Given the description of an element on the screen output the (x, y) to click on. 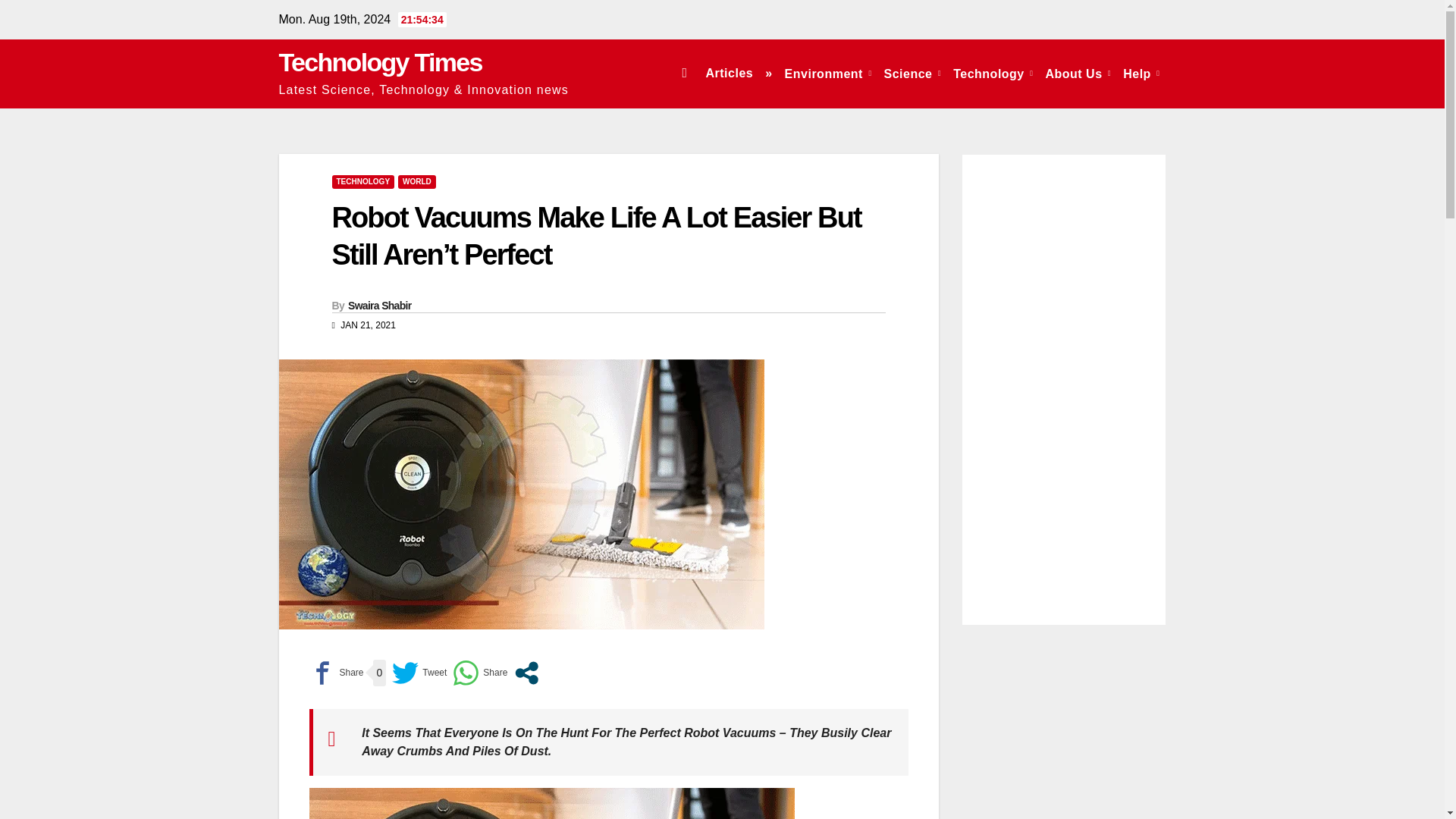
About Us (1077, 73)
Science (912, 73)
Technology Times (380, 61)
Environment (827, 73)
Environment (827, 73)
Technology (993, 73)
Technology (993, 73)
Science (912, 73)
